Given the description of an element on the screen output the (x, y) to click on. 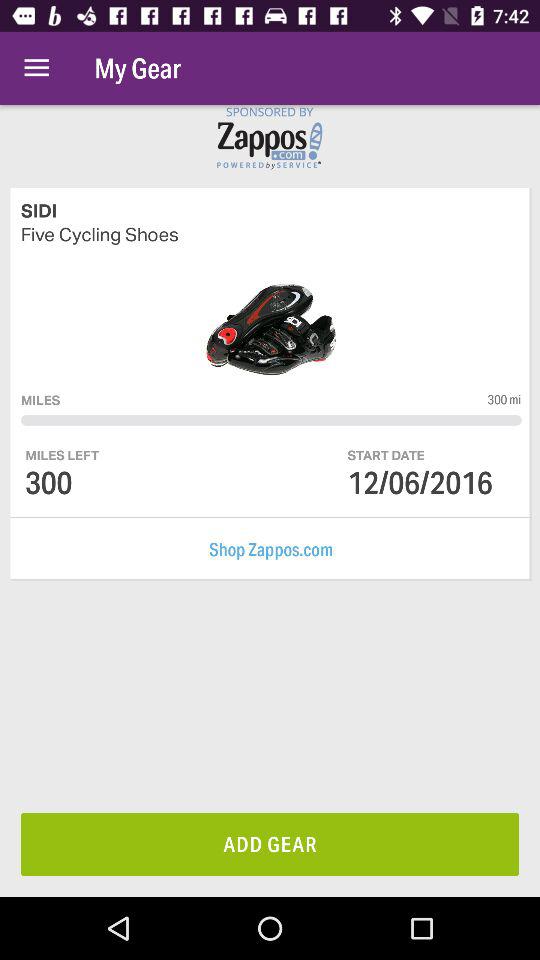
swipe to start date item (385, 454)
